Given the description of an element on the screen output the (x, y) to click on. 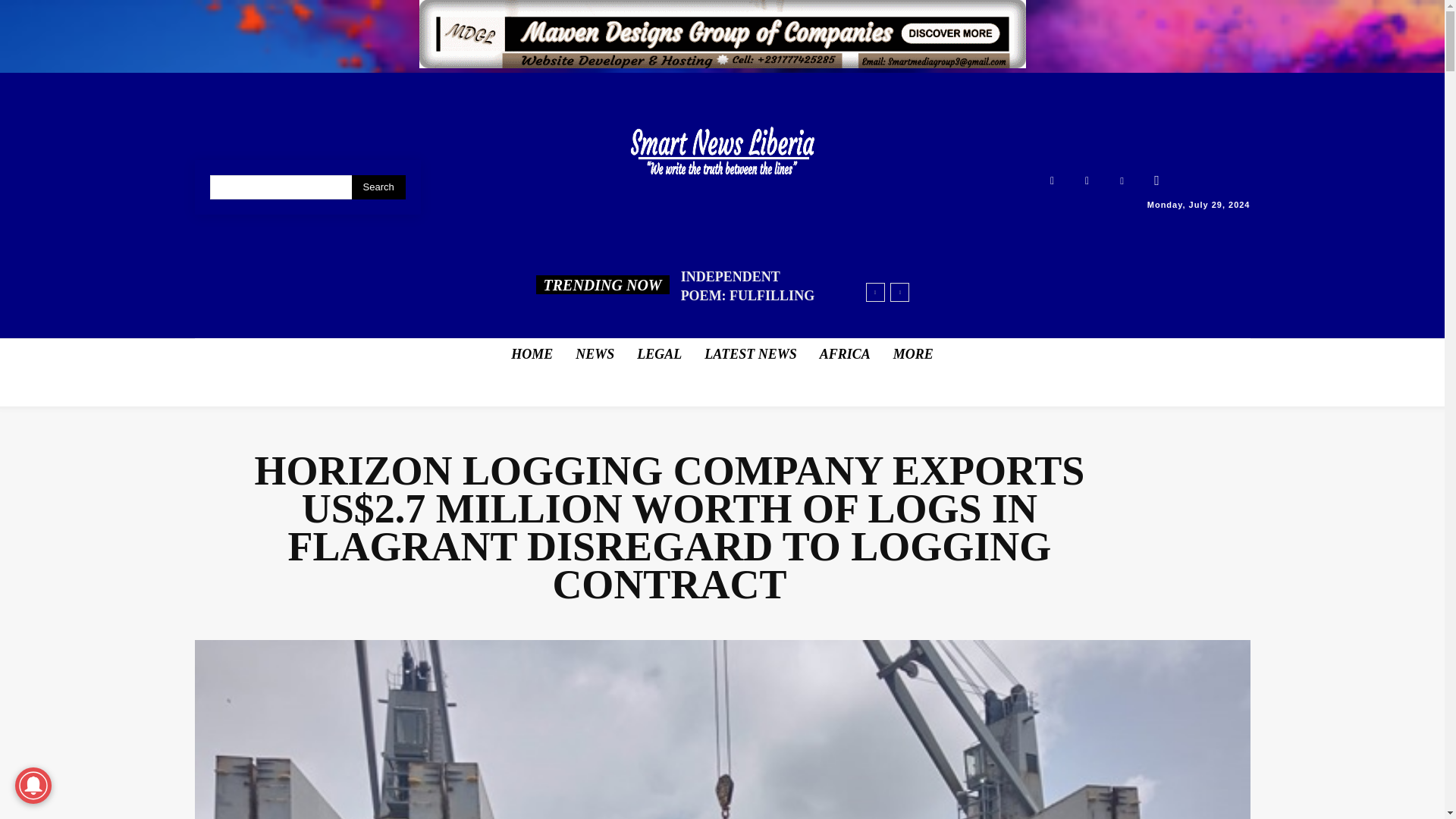
Search (379, 187)
INDEPENDENT POEM: FULFILLING HER DESTINY (748, 295)
Search (379, 187)
